Given the description of an element on the screen output the (x, y) to click on. 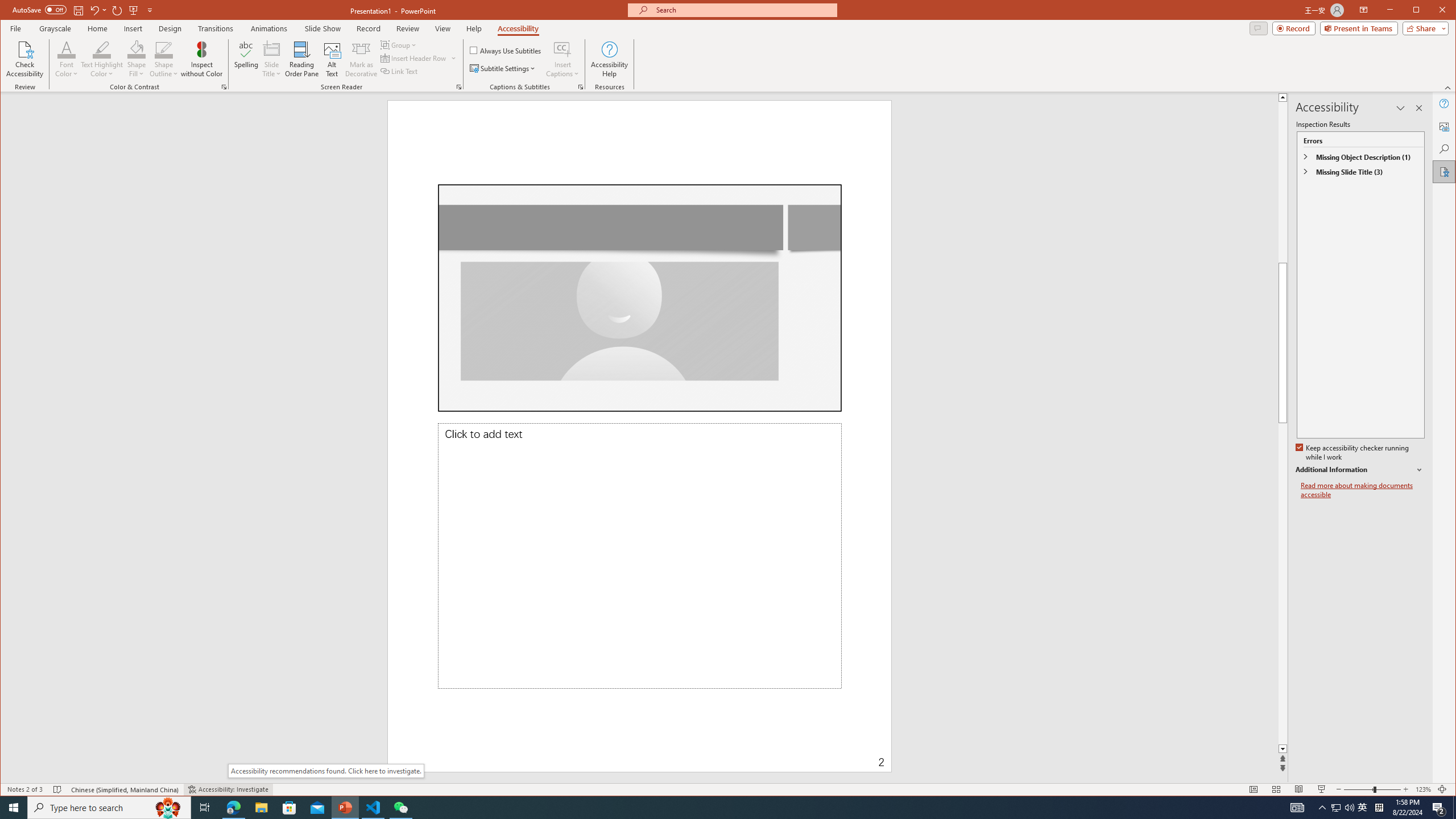
Captions & Subtitles (580, 86)
